Given the description of an element on the screen output the (x, y) to click on. 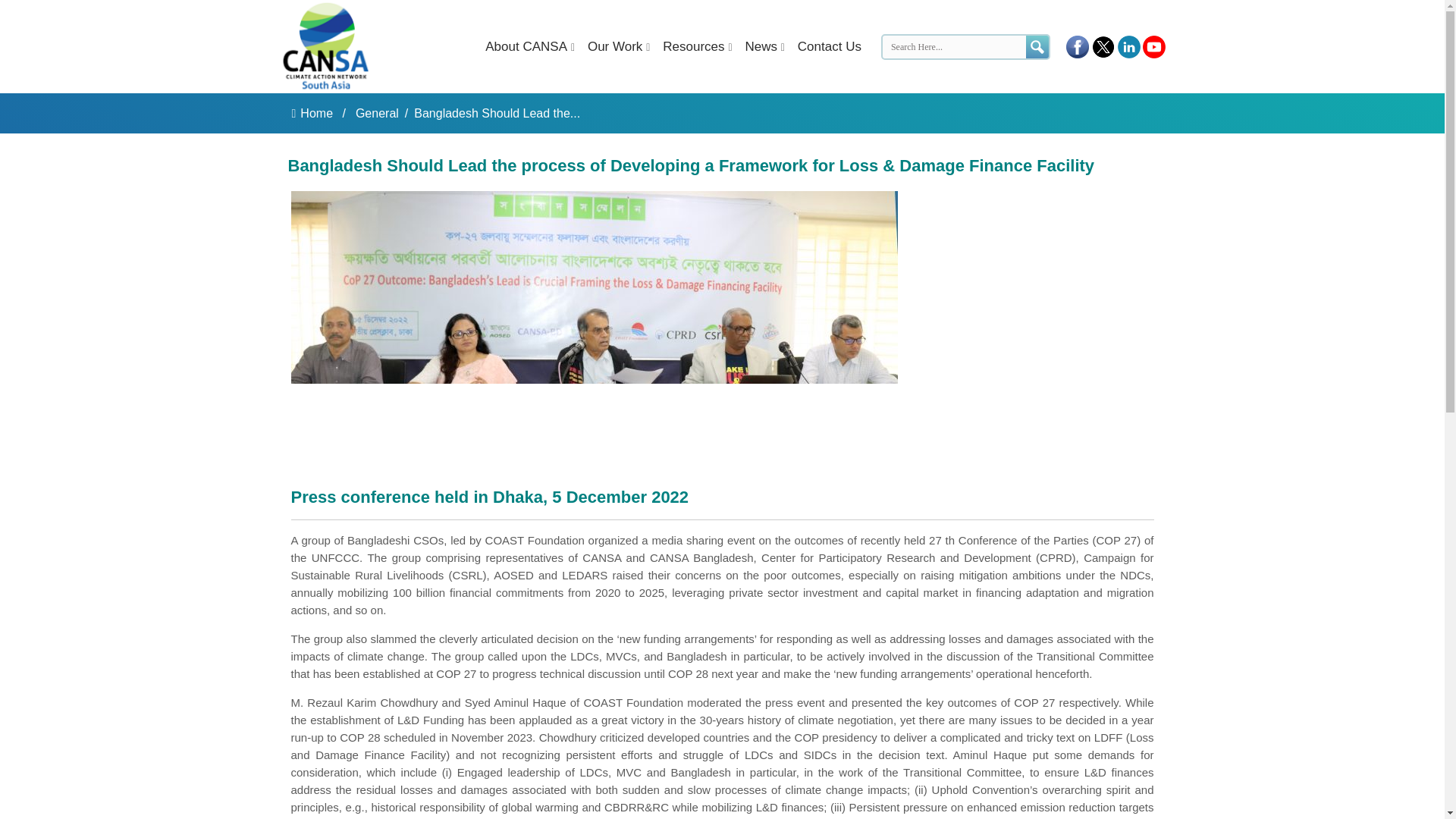
Category Name (375, 113)
Our Work (610, 46)
General (376, 113)
About CANSA (521, 46)
